Given the description of an element on the screen output the (x, y) to click on. 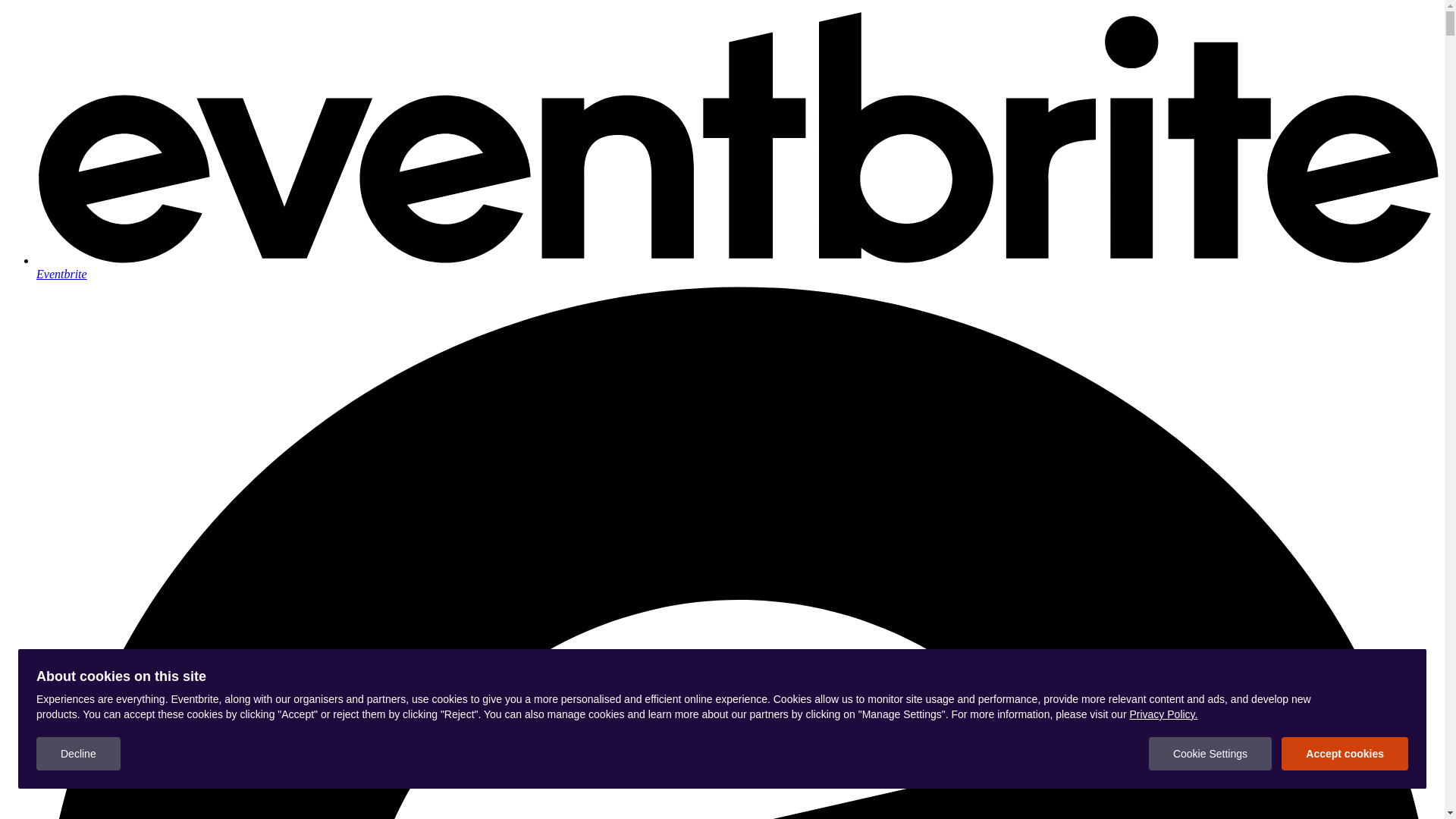
Privacy Policy. Element type: text (1163, 714)
Accept cookies Element type: text (1344, 753)
Eventbrite Element type: text (737, 267)
Cookie Settings Element type: text (1209, 753)
Decline Element type: text (78, 753)
